Given the description of an element on the screen output the (x, y) to click on. 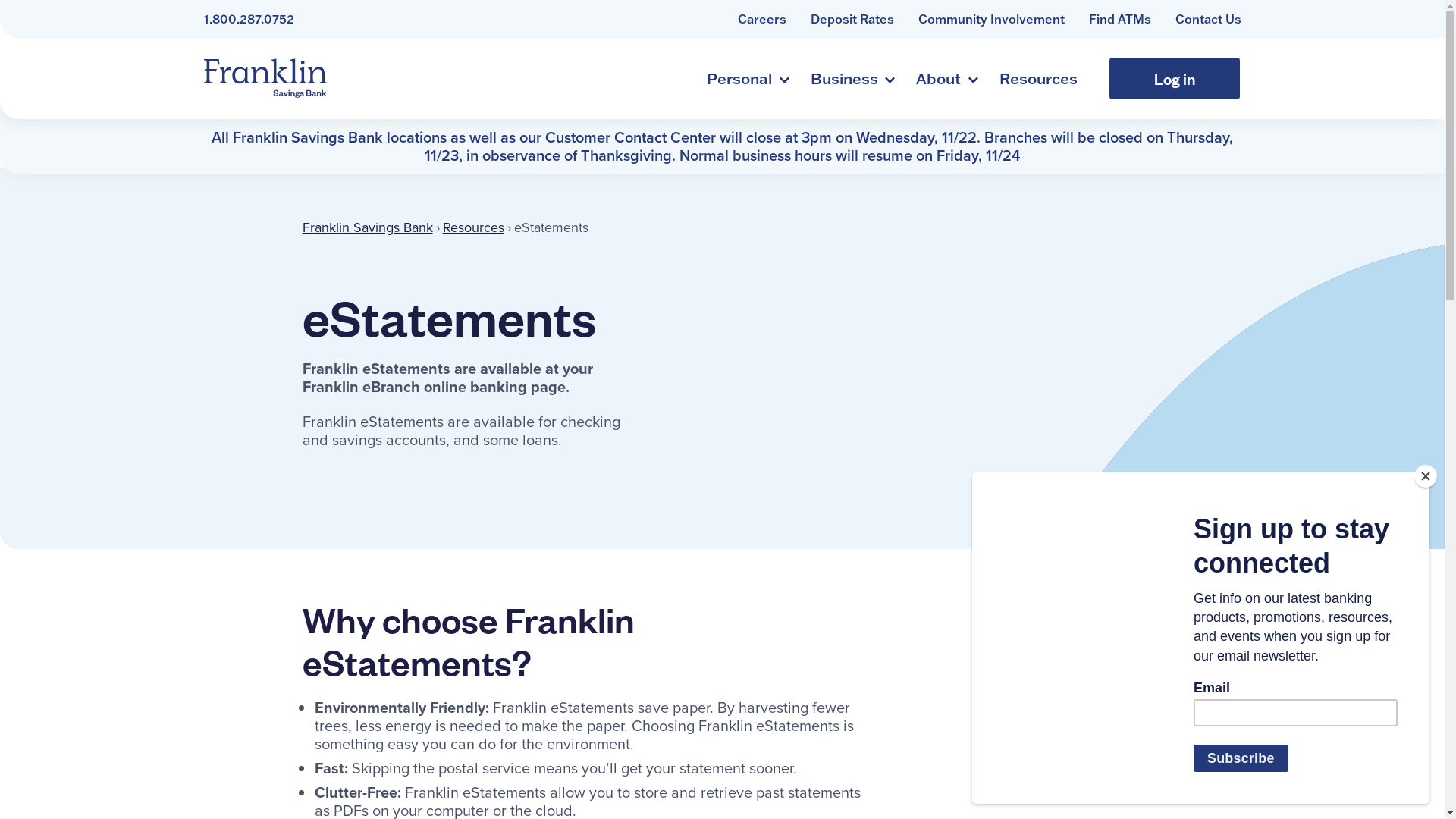
Deposit Rates Element type: text (851, 18)
1.800.287.0752 Element type: text (248, 18)
Contact Us Element type: text (1208, 18)
Resources Element type: text (473, 226)
Franklin Savings Bank Element type: text (366, 226)
Community Involvement Element type: text (990, 18)
Franklin Savings Bank Element type: text (264, 77)
Careers Element type: text (760, 18)
Find ATMs Element type: text (1119, 18)
Resources Element type: text (1038, 77)
Log in Element type: text (1173, 78)
Business Element type: text (850, 77)
About Element type: text (944, 77)
Personal Element type: text (745, 77)
